Given the description of an element on the screen output the (x, y) to click on. 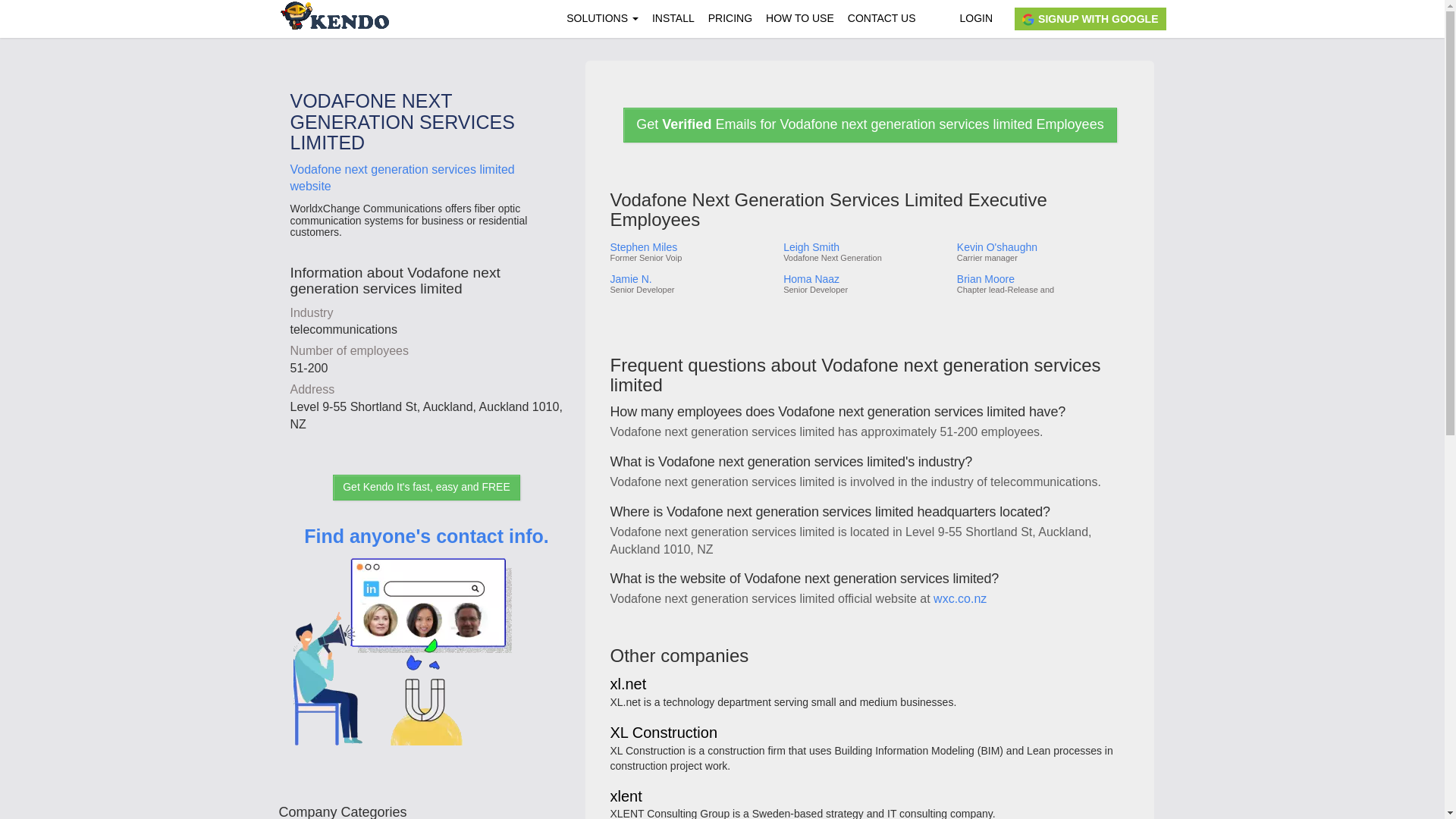
Stephen Miles (690, 247)
xl.net (628, 684)
CONTACT US (882, 18)
SOLUTIONS (602, 18)
PRICING (729, 18)
LOGIN (975, 18)
Jamie N. (690, 279)
Find anyone's contact info. (425, 657)
HOW TO USE (799, 18)
XL Construction (663, 733)
Get Kendo It's fast, easy and FREE (426, 487)
Vodafone next generation services limited website (401, 177)
Leigh Smith (863, 247)
Brian Moore (1041, 279)
Homa Naaz (863, 279)
